Given the description of an element on the screen output the (x, y) to click on. 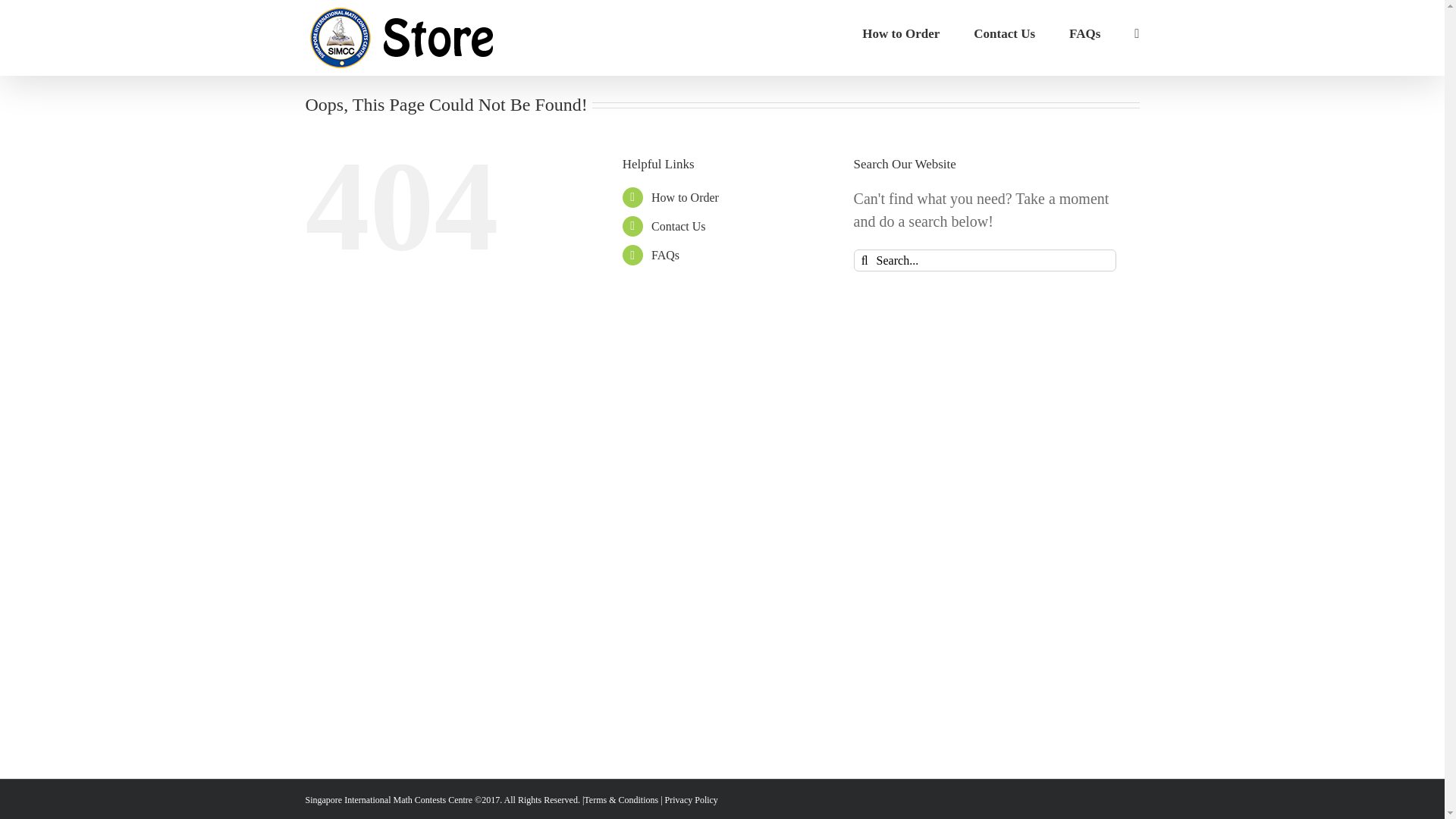
FAQs (664, 254)
Privacy Policy (691, 799)
How to Order (684, 196)
Contact Us (1004, 32)
How to Order (900, 32)
Contact Us (678, 226)
